Given the description of an element on the screen output the (x, y) to click on. 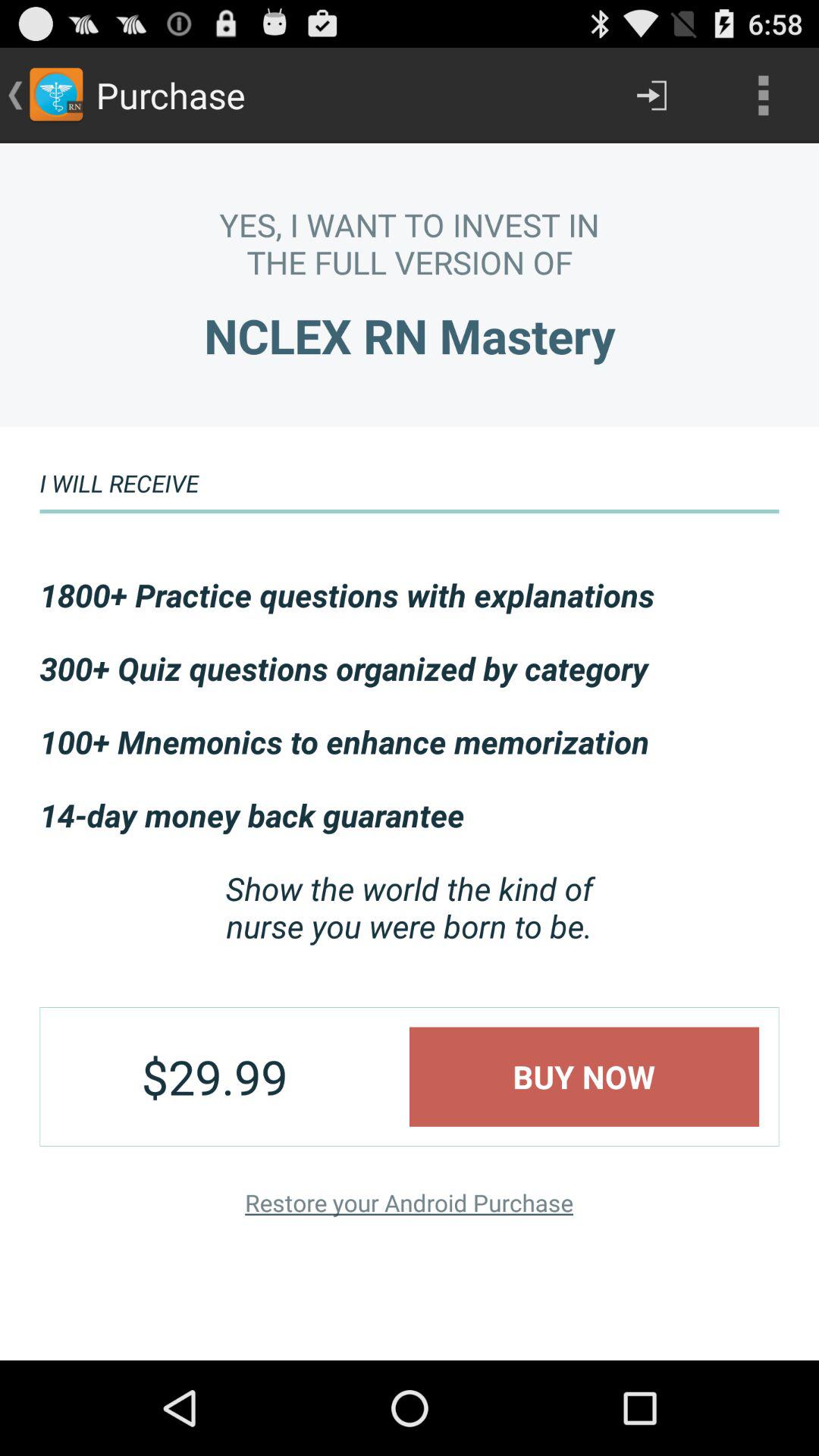
launch the item next to the purchase item (651, 95)
